Given the description of an element on the screen output the (x, y) to click on. 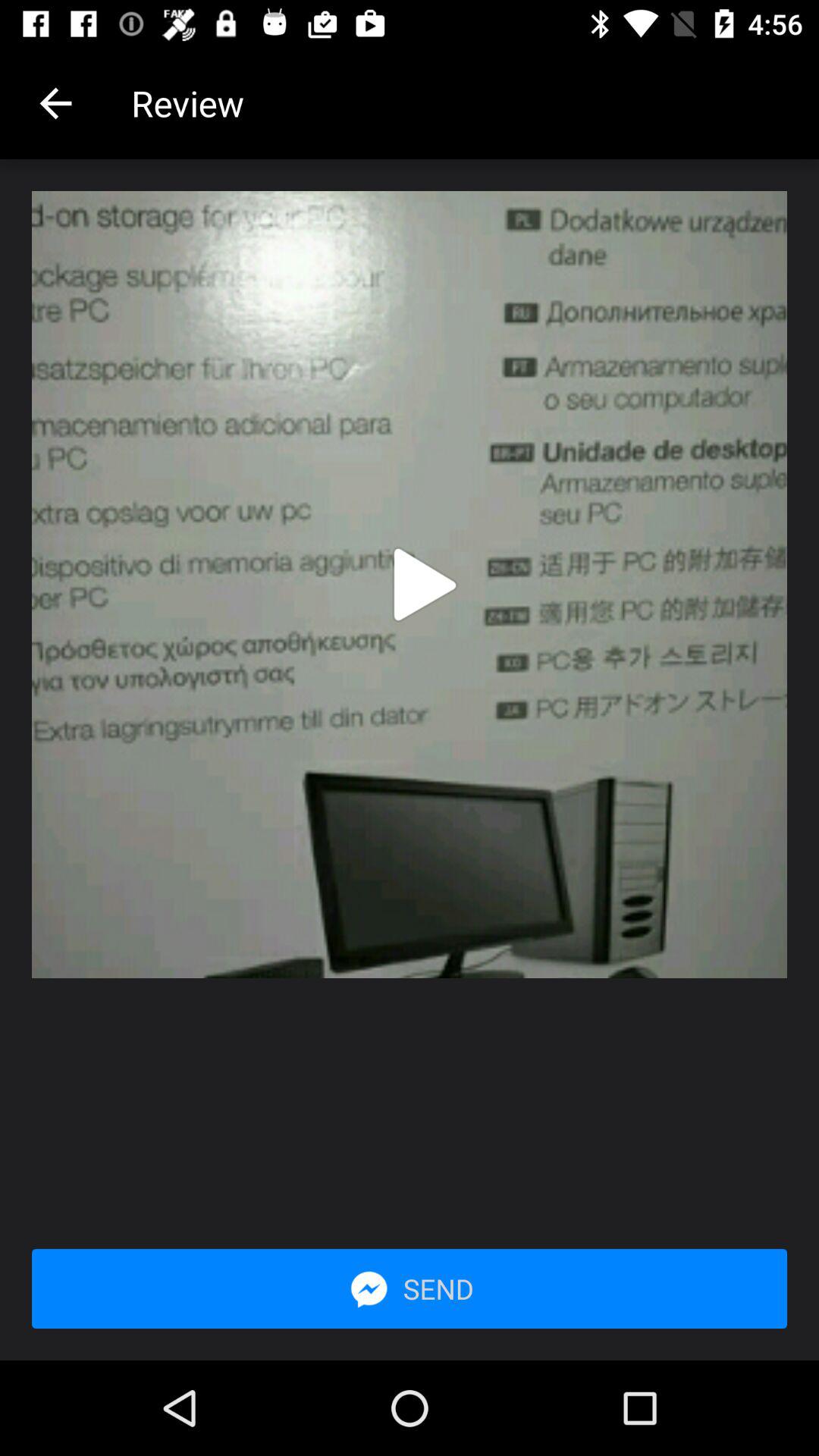
turn on app to the left of the review app (55, 103)
